Given the description of an element on the screen output the (x, y) to click on. 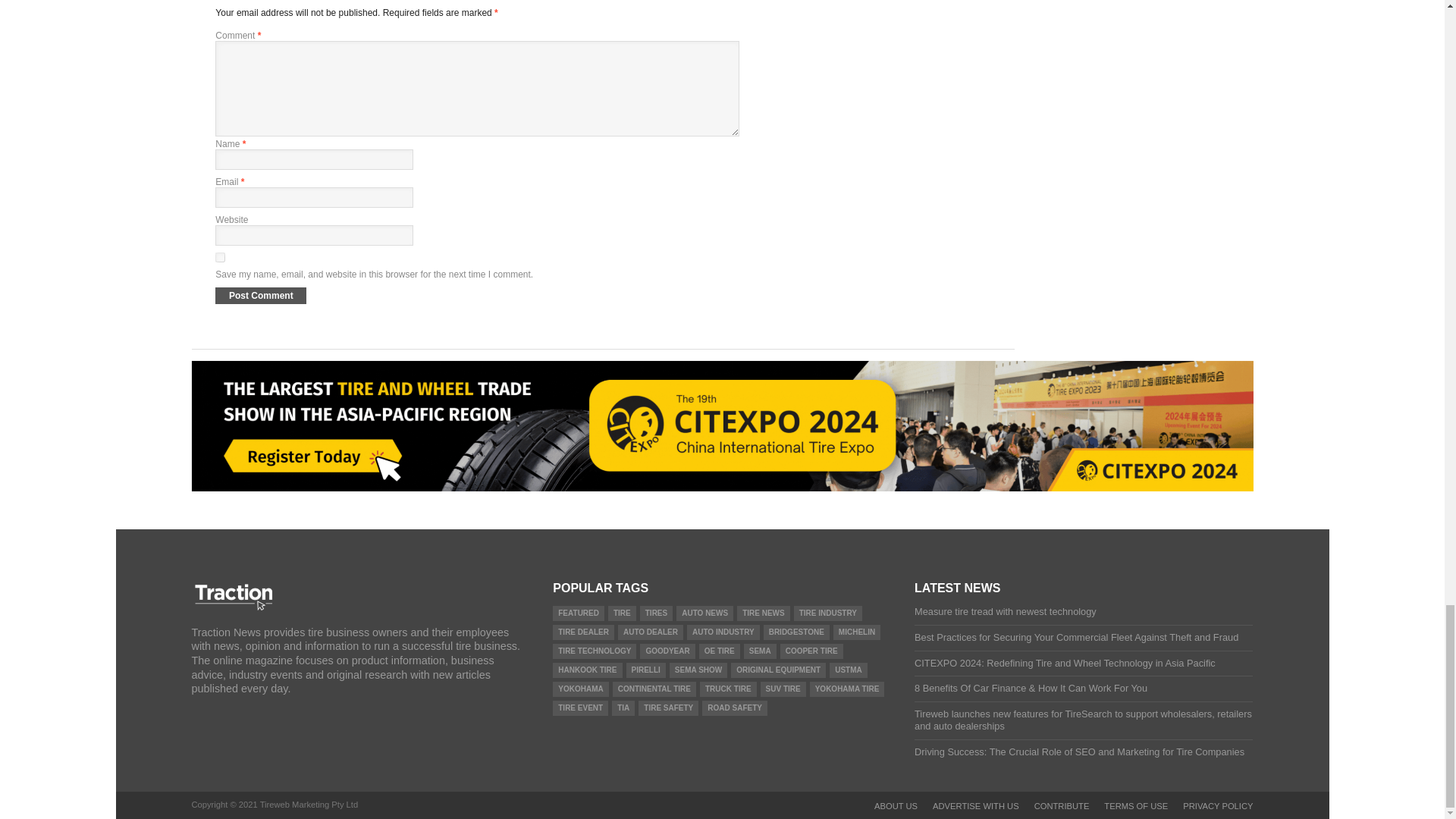
yes (220, 256)
Post Comment (260, 294)
